Given the description of an element on the screen output the (x, y) to click on. 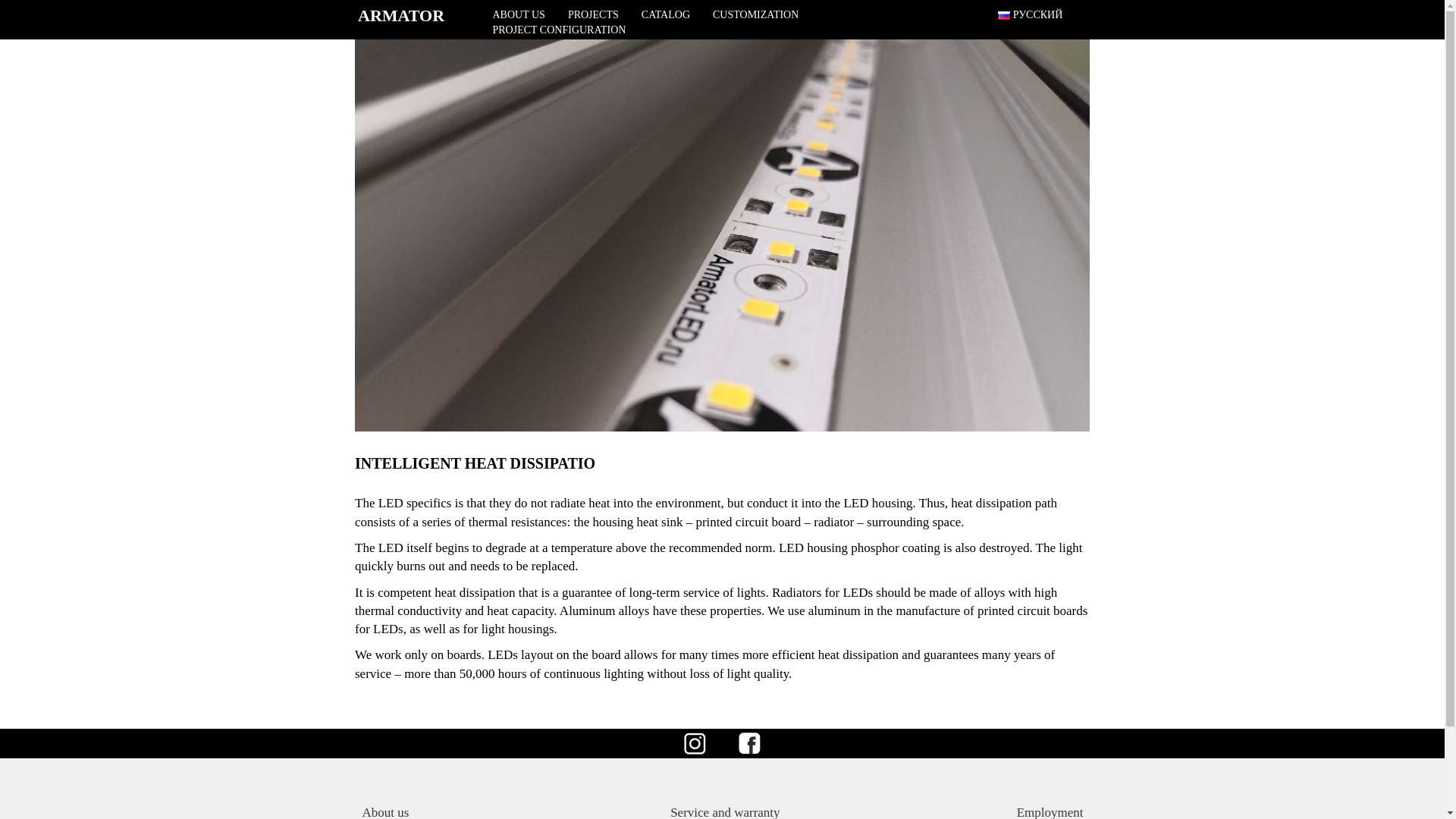
CATALOG (665, 14)
ARMATOR (401, 15)
About us (385, 812)
CUSTOMIZATION (755, 14)
Service and warranty (723, 812)
PROJECTS (593, 14)
PROJECT CONFIGURATION (558, 29)
ABOUT US (518, 14)
facebook (749, 742)
Employment (1049, 812)
